Given the description of an element on the screen output the (x, y) to click on. 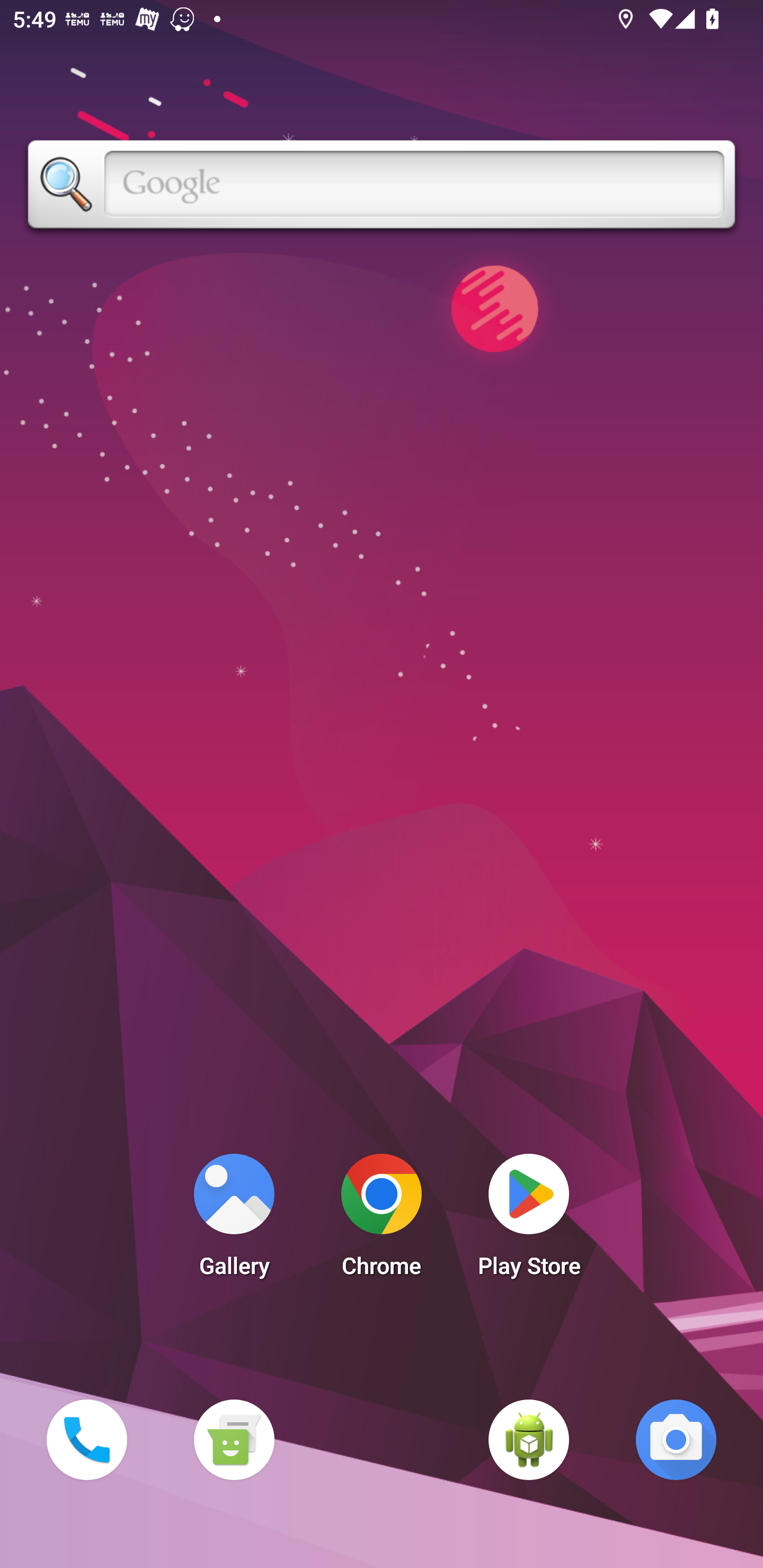
Gallery (233, 1220)
Chrome (381, 1220)
Play Store (528, 1220)
Phone (86, 1439)
Messaging (233, 1439)
WebView Browser Tester (528, 1439)
Camera (676, 1439)
